Given the description of an element on the screen output the (x, y) to click on. 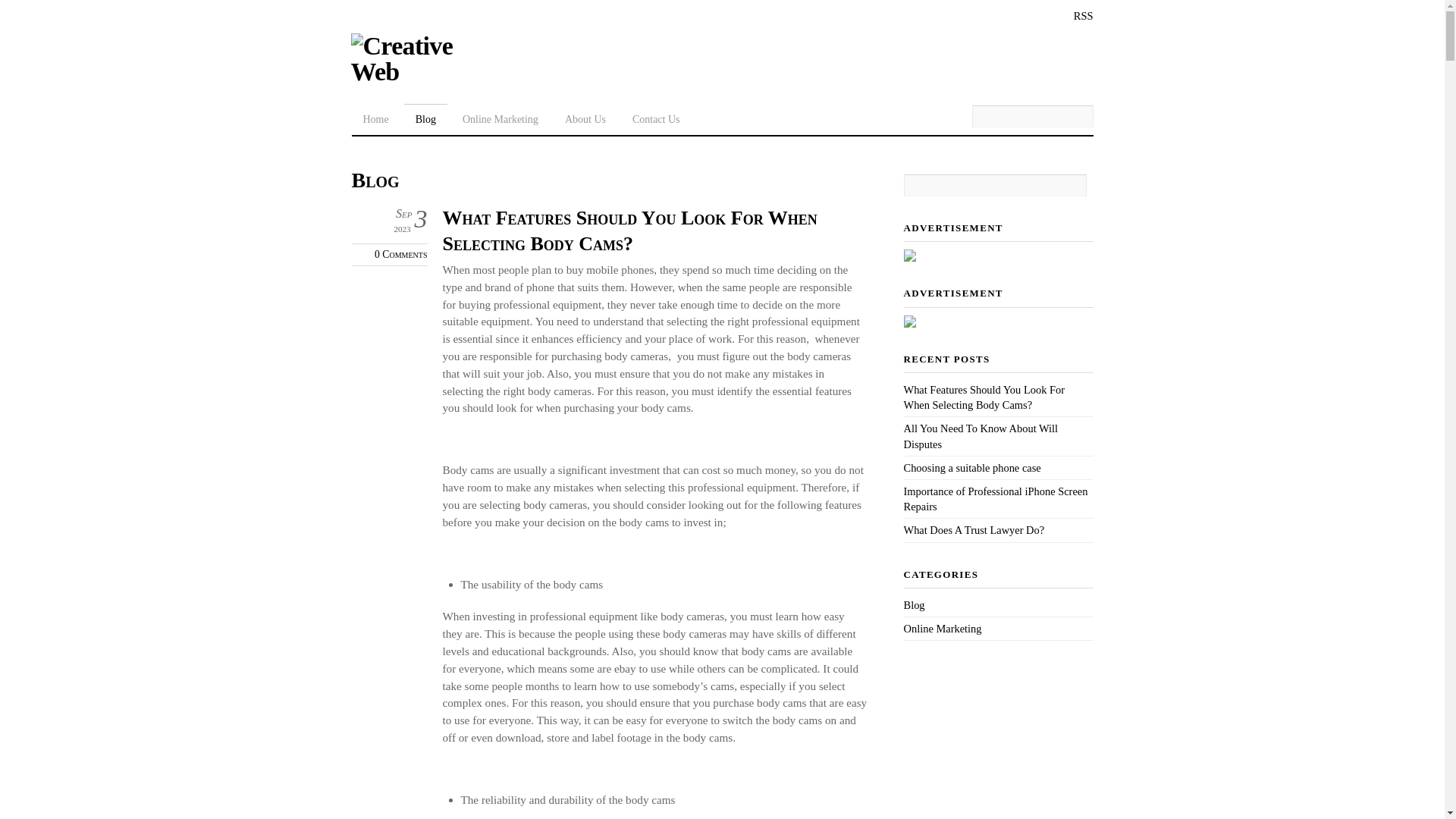
Importance of Professional iPhone Screen Repairs Element type: text (995, 498)
RSS Element type: text (1072, 15)
About Us Element type: text (585, 115)
Creative Web Element type: hover (427, 58)
Search Element type: hover (1032, 116)
What Does A Trust Lawyer Do? Element type: text (973, 530)
Creative Web Element type: hover (427, 71)
Home Element type: text (375, 115)
Online Marketing Element type: text (942, 628)
All You Need To Know About Will Disputes Element type: text (980, 435)
Search Element type: hover (994, 185)
Online Marketing Element type: text (500, 115)
Blog Element type: text (914, 605)
Contact Us Element type: text (656, 115)
Blog Element type: text (425, 115)
What Features Should You Look For When Selecting Body Cams? Element type: text (629, 230)
0 Comments Element type: text (400, 254)
What Features Should You Look For When Selecting Body Cams? Element type: text (984, 397)
Choosing a suitable phone case Element type: text (972, 467)
